Given the description of an element on the screen output the (x, y) to click on. 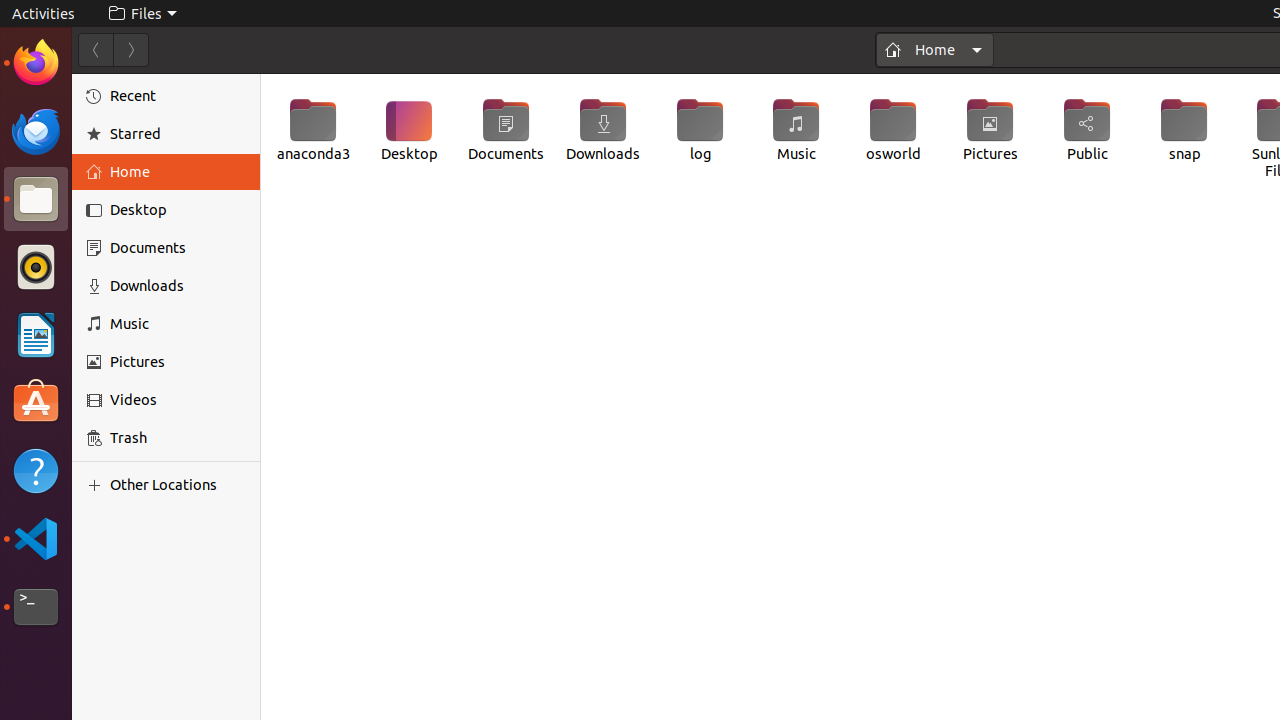
Videos Element type: label (178, 400)
